Given the description of an element on the screen output the (x, y) to click on. 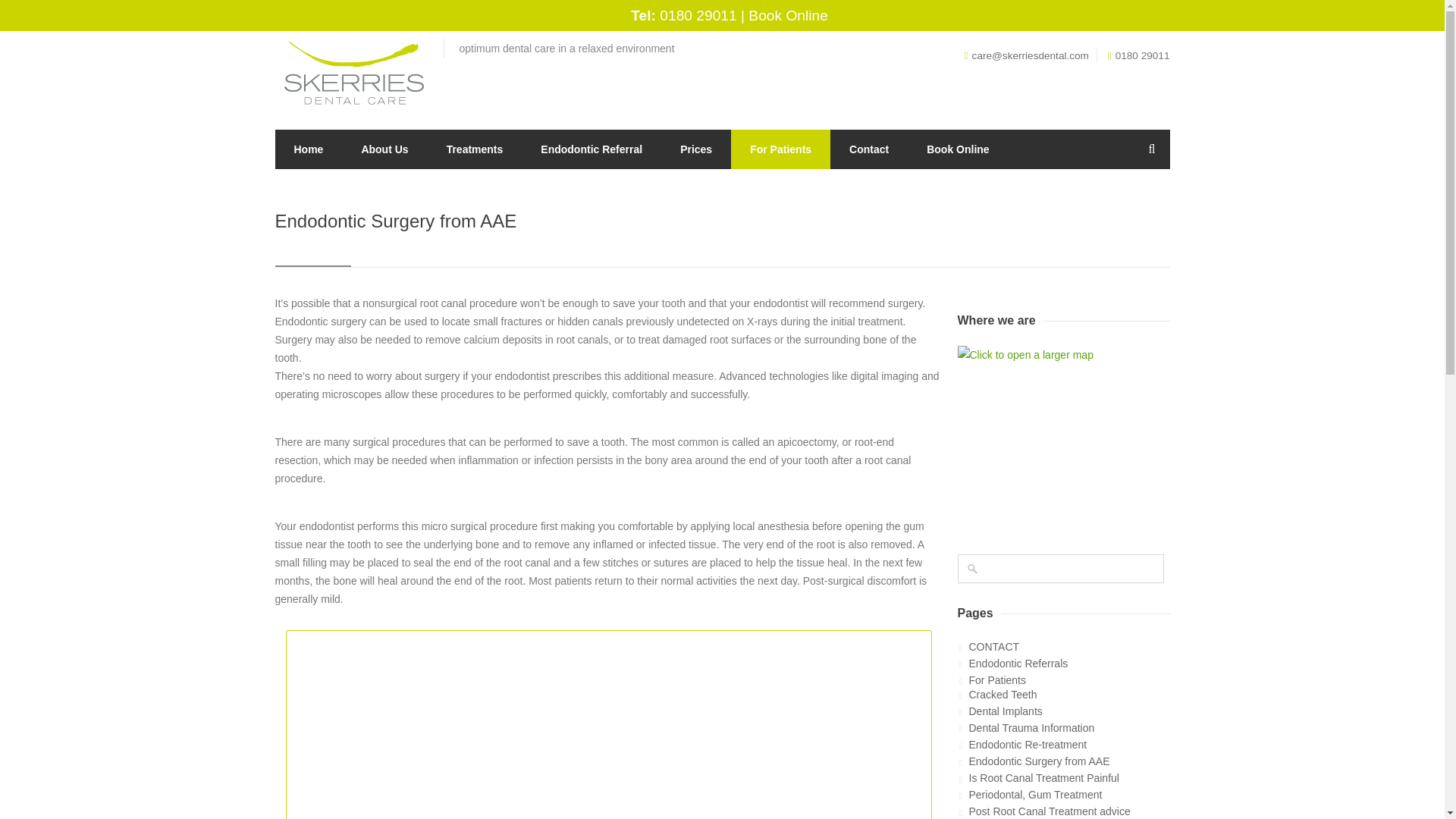
Click to open a larger map (1062, 440)
CONTACT (1069, 646)
Click to open a larger map (1051, 440)
Prices (695, 148)
Book Online (957, 148)
For Patients (779, 148)
Treatments (475, 148)
Contact (868, 148)
Endodontic Referrals (1069, 663)
Home (308, 148)
